Given the description of an element on the screen output the (x, y) to click on. 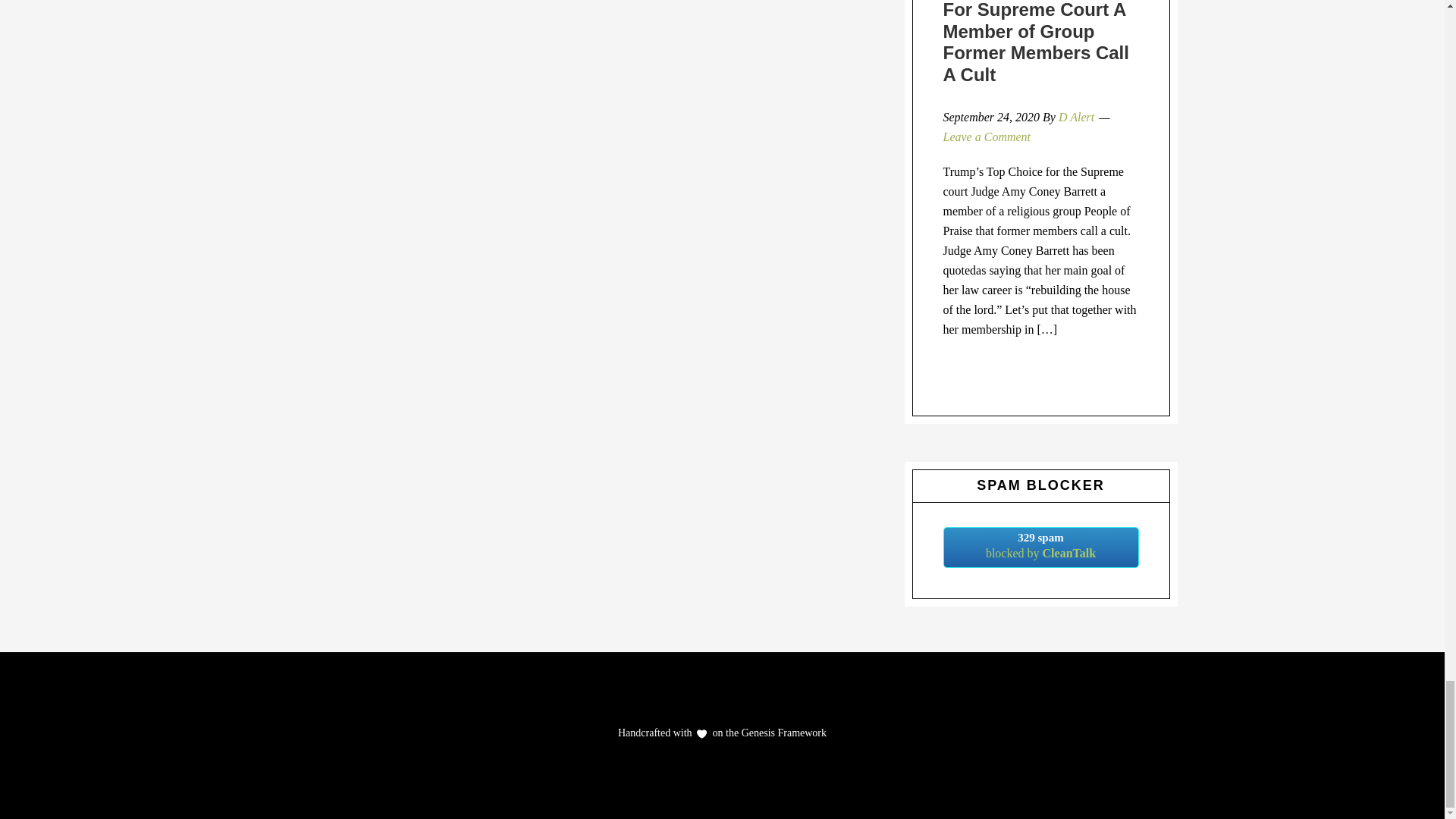
CleanTalk's main page (1040, 547)
